Given the description of an element on the screen output the (x, y) to click on. 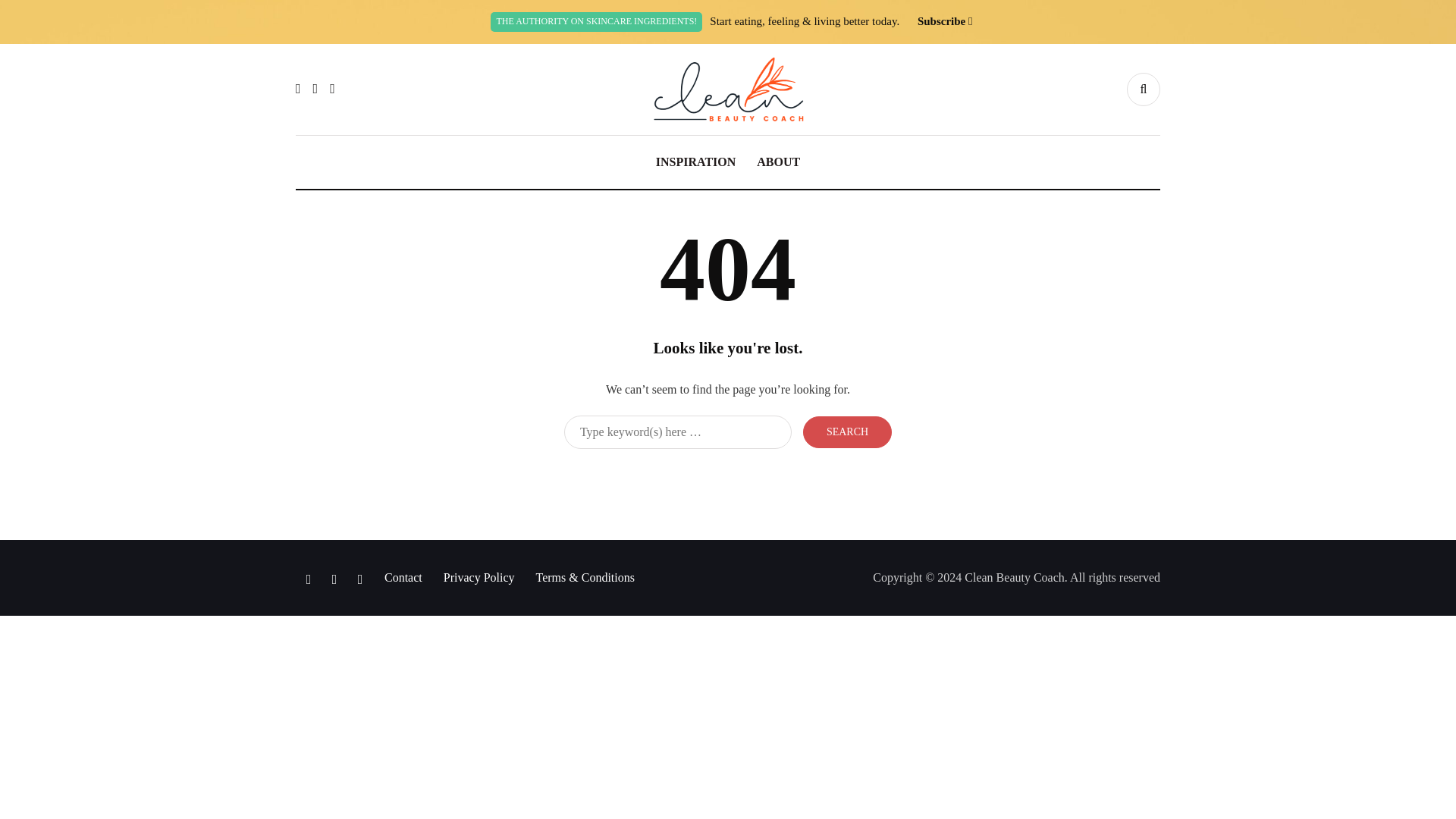
INSPIRATION (695, 162)
ABOUT (777, 162)
Privacy Policy (479, 576)
Contact (403, 576)
Search (847, 431)
Subscribe (941, 21)
Search (847, 431)
